Given the description of an element on the screen output the (x, y) to click on. 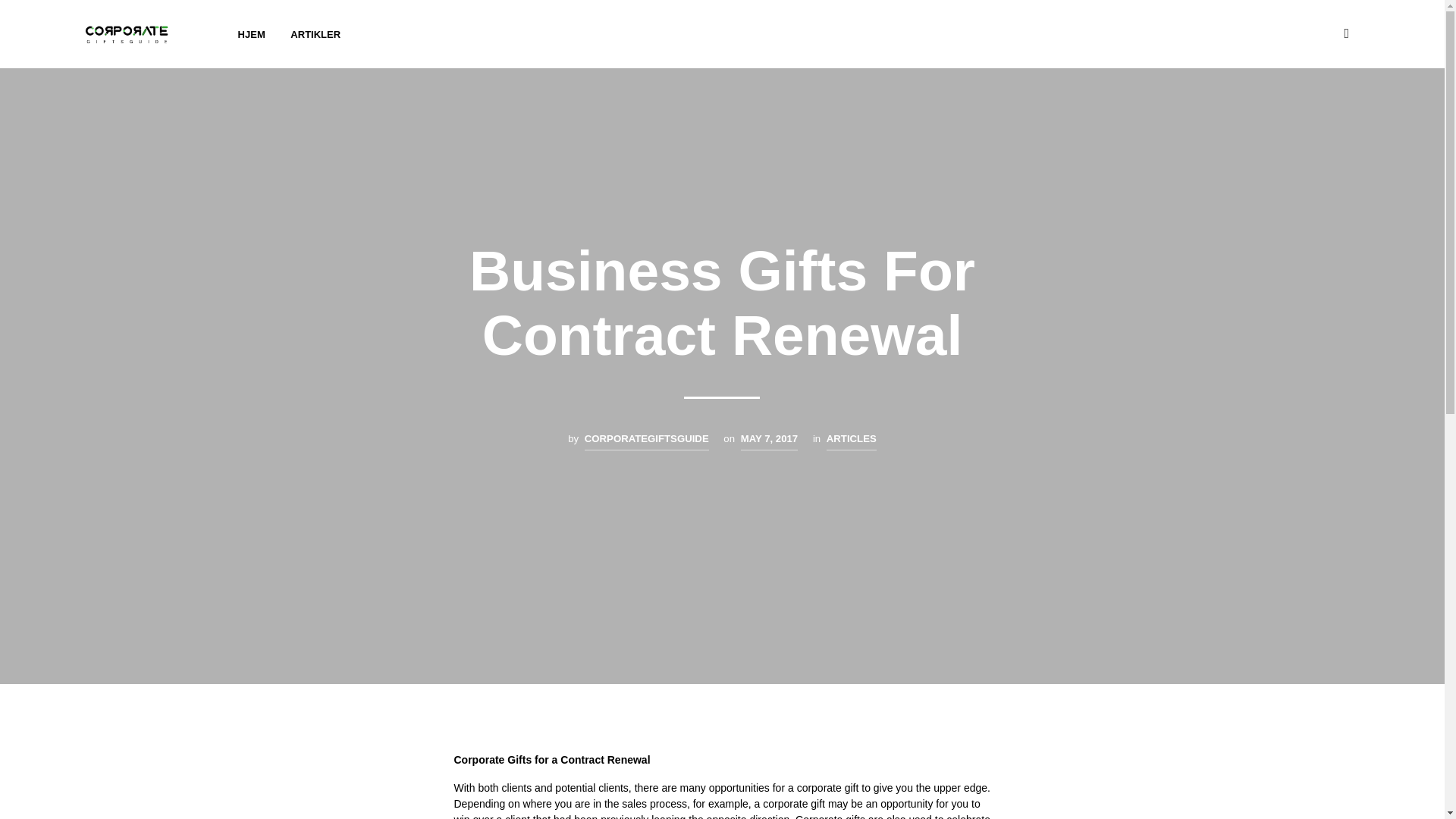
HJEM (251, 34)
MAY 7, 2017 (769, 440)
View all posts by CorporateGiftsGuide (647, 440)
ARTIKLER (315, 34)
ARTICLES (851, 440)
Permalink to Business Gifts For Contract Renewal (769, 440)
CORPORATEGIFTSGUIDE (647, 440)
